Given the description of an element on the screen output the (x, y) to click on. 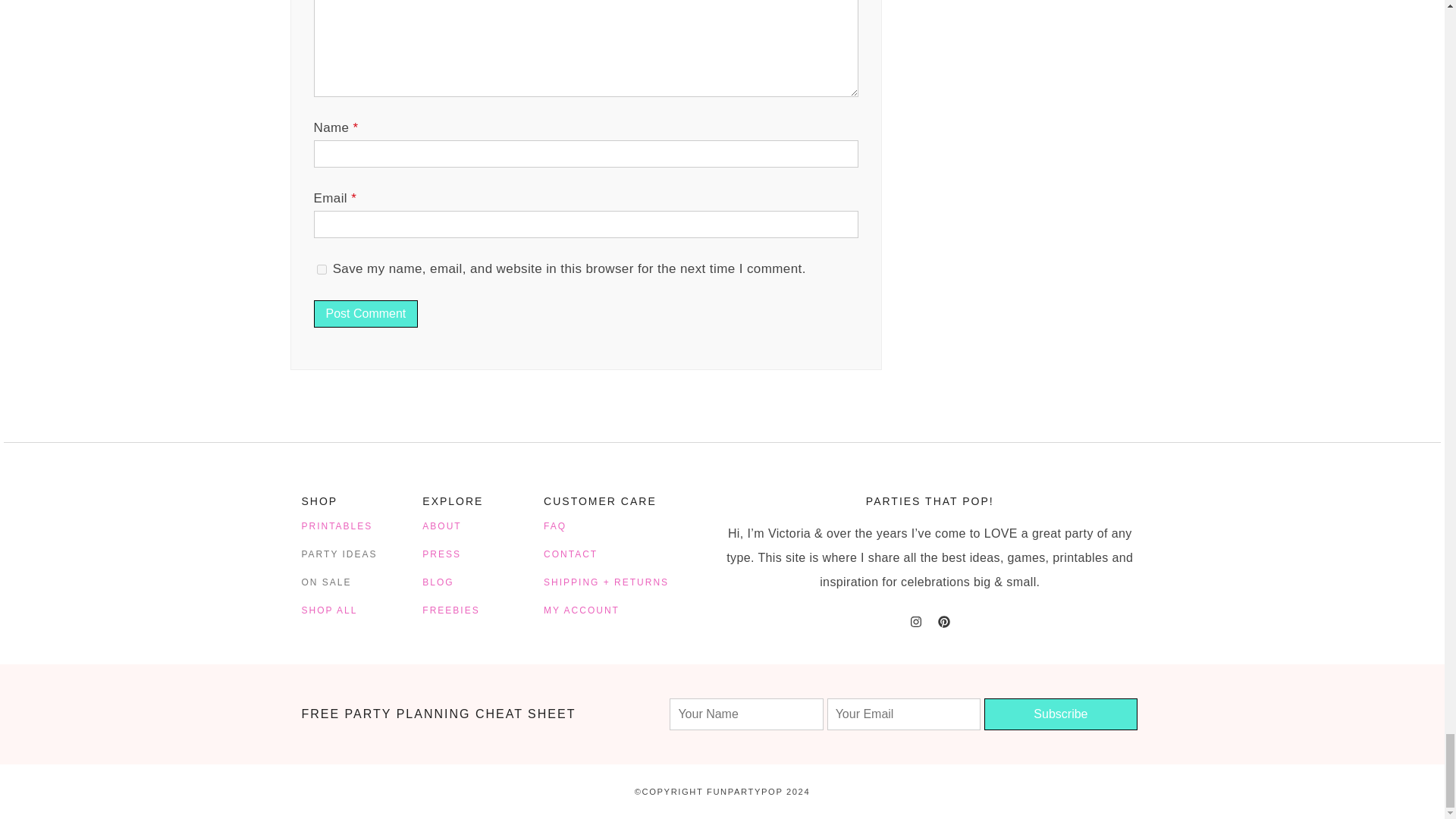
Subscribe (1060, 714)
Post Comment (366, 313)
yes (321, 269)
